Given the description of an element on the screen output the (x, y) to click on. 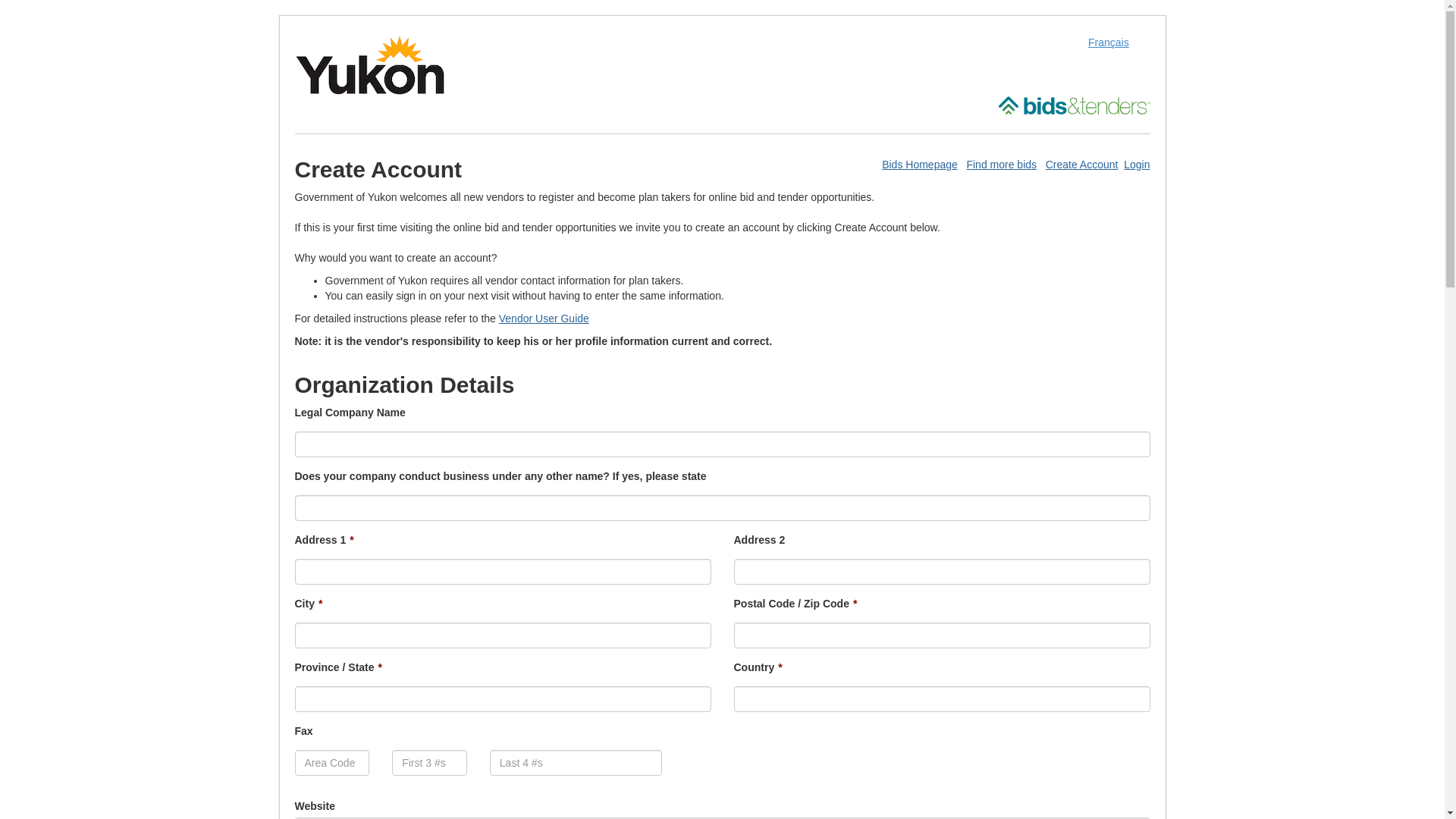
Open Bids and Tenders site in a new window Element type: hover (1073, 104)
Create Account Element type: text (1081, 164)
Bids Homepage Element type: text (919, 164)
Find more bids Element type: text (1001, 164)
Open Government of Yukon site in a new window Element type: hover (369, 64)
Login Element type: text (1136, 164)
Skip to Content (Press Enter) Element type: text (0, 0)
Vendor User Guide Element type: text (543, 318)
